Given the description of an element on the screen output the (x, y) to click on. 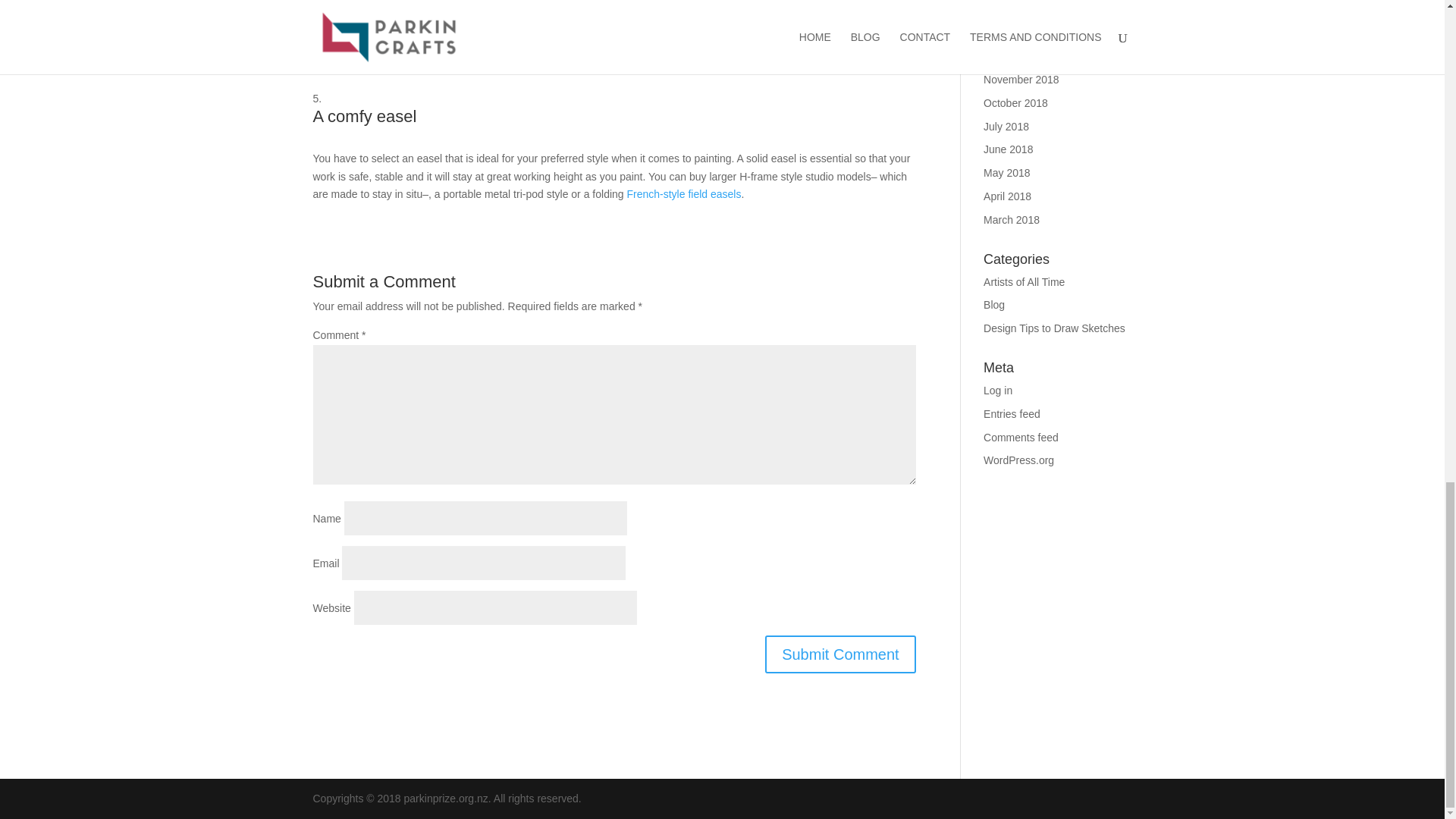
Submit Comment (840, 654)
French-style field easels (683, 193)
Acrylic gesso (665, 50)
Submit Comment (840, 654)
